Given the description of an element on the screen output the (x, y) to click on. 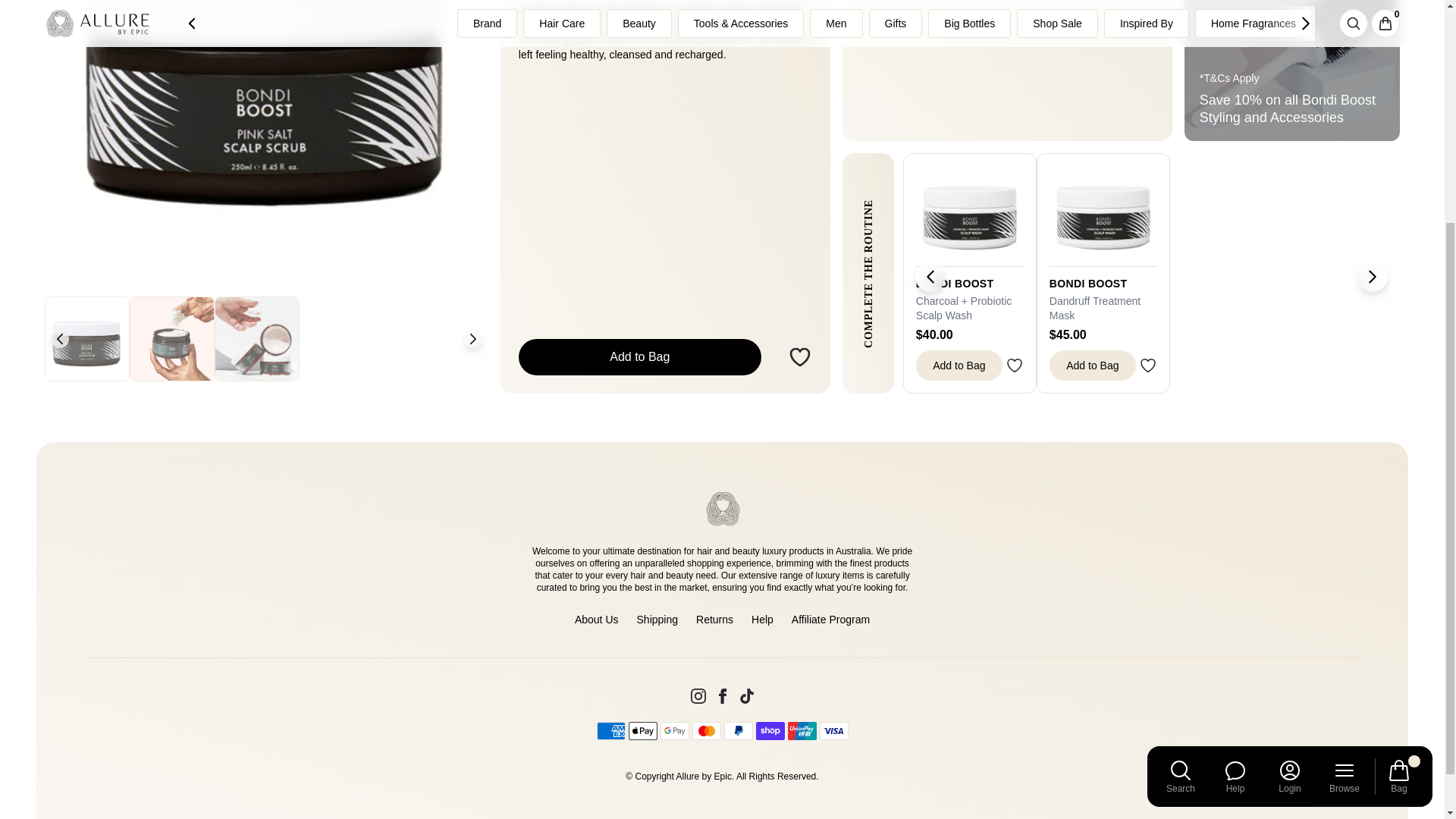
Allure by Epic Facebook (721, 695)
Affiliate Program Page (830, 619)
Allure by Epic Instagram (697, 695)
Help Page (762, 619)
Allure by Epic TikTok (746, 695)
About Us Page (596, 619)
Write a review (1007, 70)
Shipping Page (657, 619)
Returns Page (714, 619)
